Given the description of an element on the screen output the (x, y) to click on. 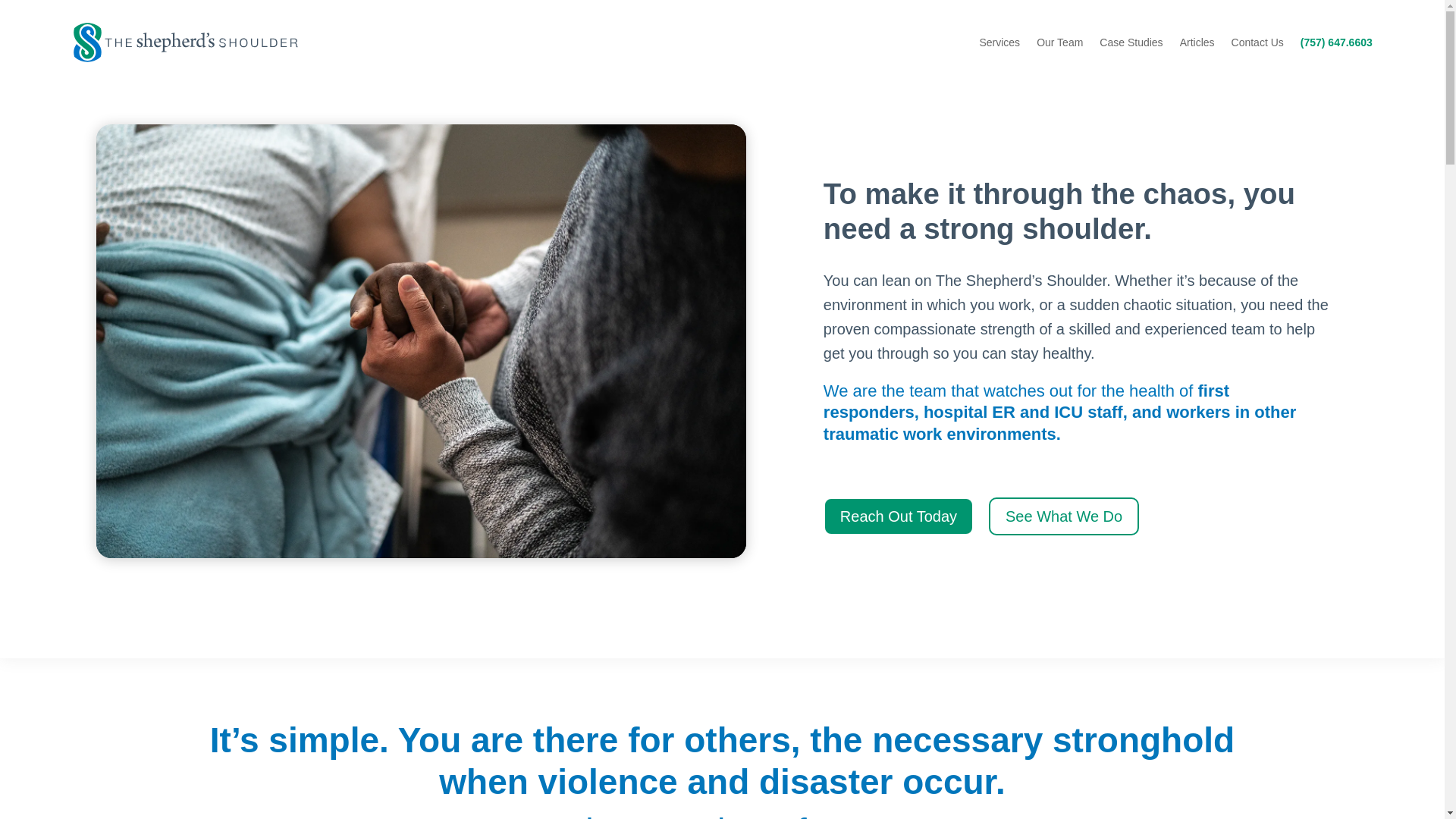
Case Studies (1130, 42)
Contact Us (1257, 42)
See What We Do (1063, 516)
Reach Out Today (899, 516)
